Given the description of an element on the screen output the (x, y) to click on. 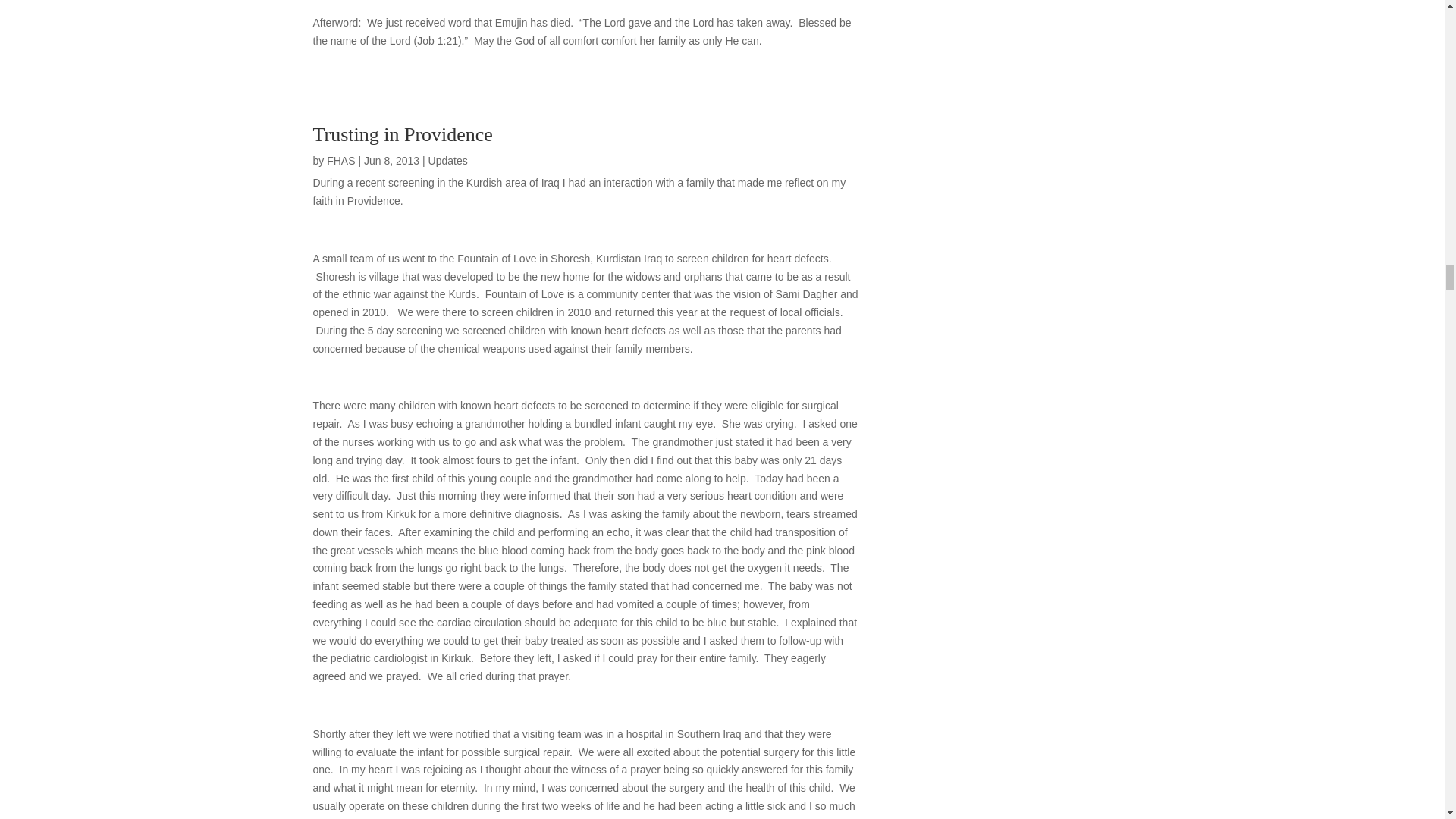
FHAS (340, 160)
Posts by FHAS (340, 160)
Updates (447, 160)
Trusting in Providence (402, 134)
